Given the description of an element on the screen output the (x, y) to click on. 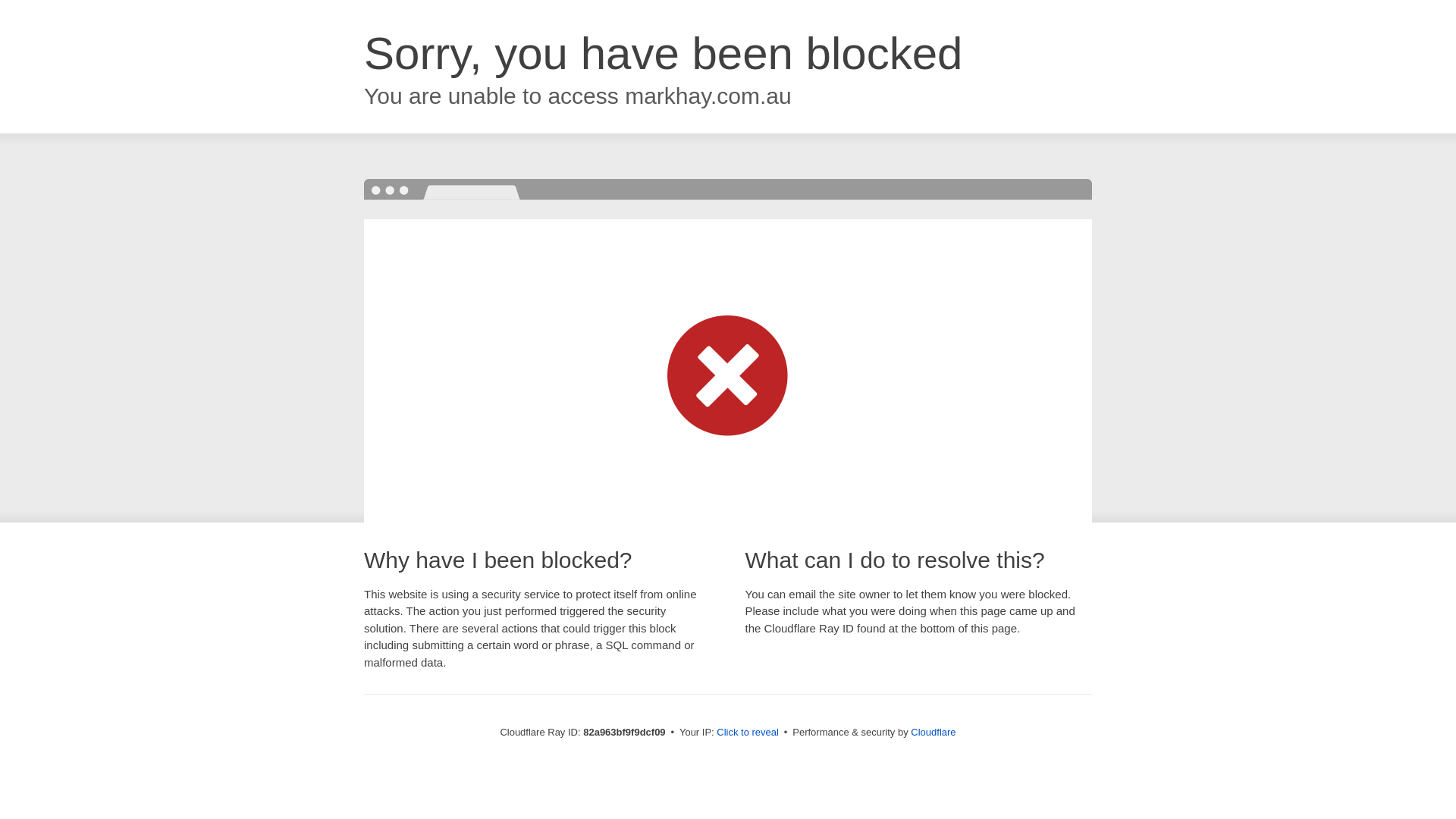
Cloudflare Element type: text (932, 731)
Click to reveal Element type: text (747, 732)
